Given the description of an element on the screen output the (x, y) to click on. 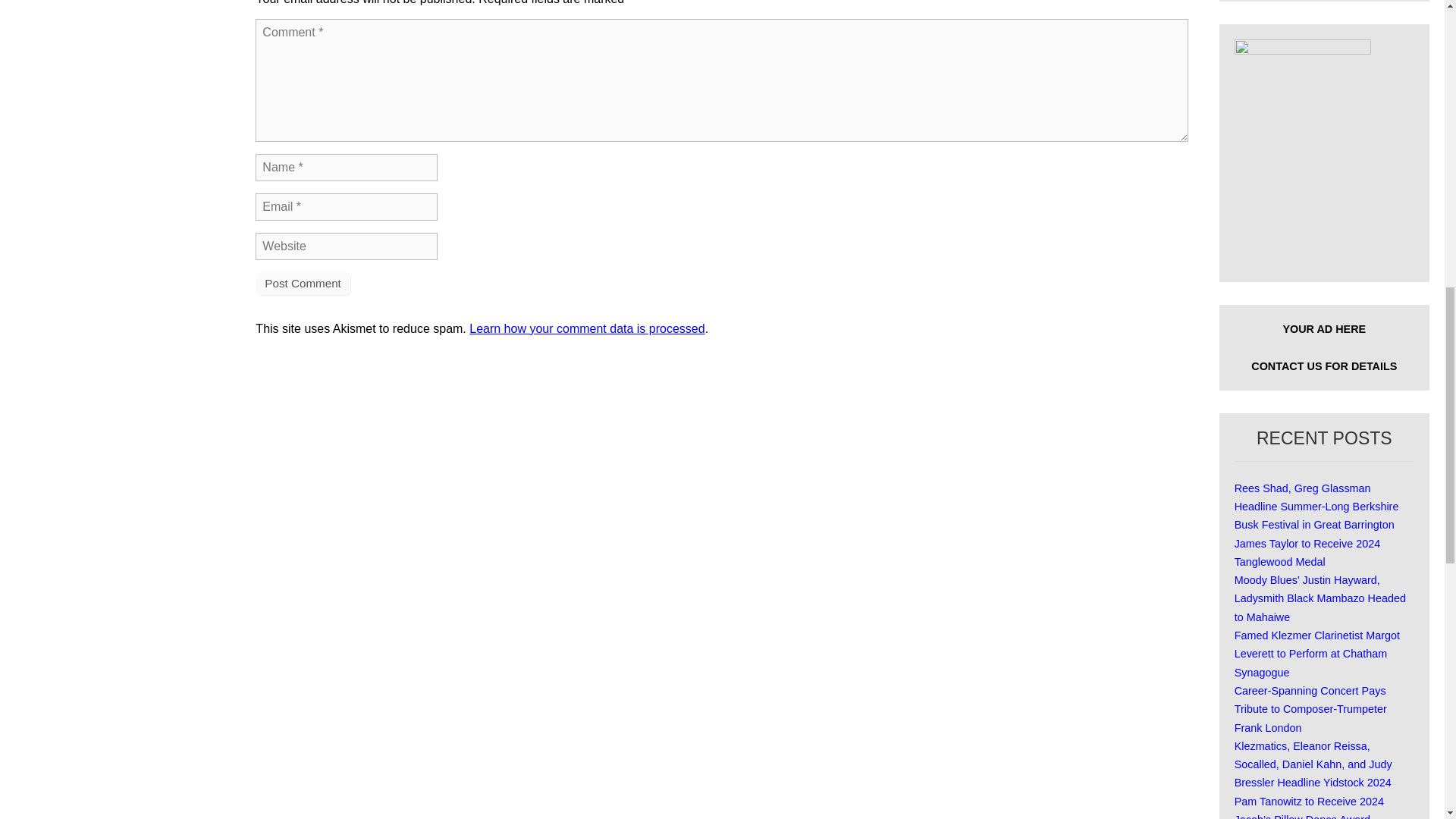
Learn how your comment data is processed (586, 328)
Post Comment (302, 282)
Post Comment (302, 282)
